Given the description of an element on the screen output the (x, y) to click on. 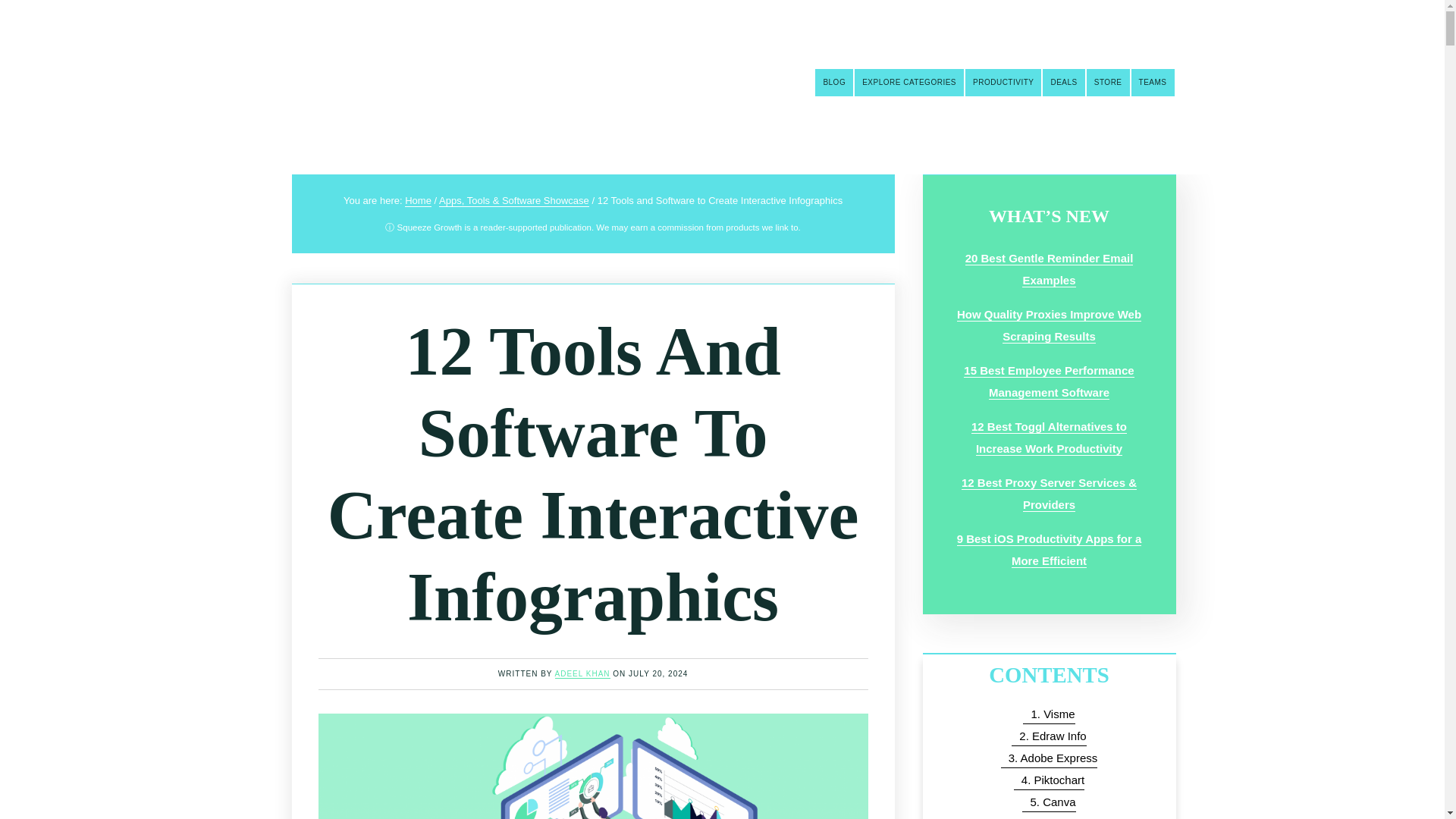
PRODUCTIVITY (1003, 82)
STORE (1107, 82)
BLOG (834, 82)
Squeeze Growth (359, 77)
ADEEL KHAN (582, 673)
TEAMS (1152, 82)
DEALS (1063, 82)
EXPLORE CATEGORIES (908, 82)
Home (417, 200)
